Given the description of an element on the screen output the (x, y) to click on. 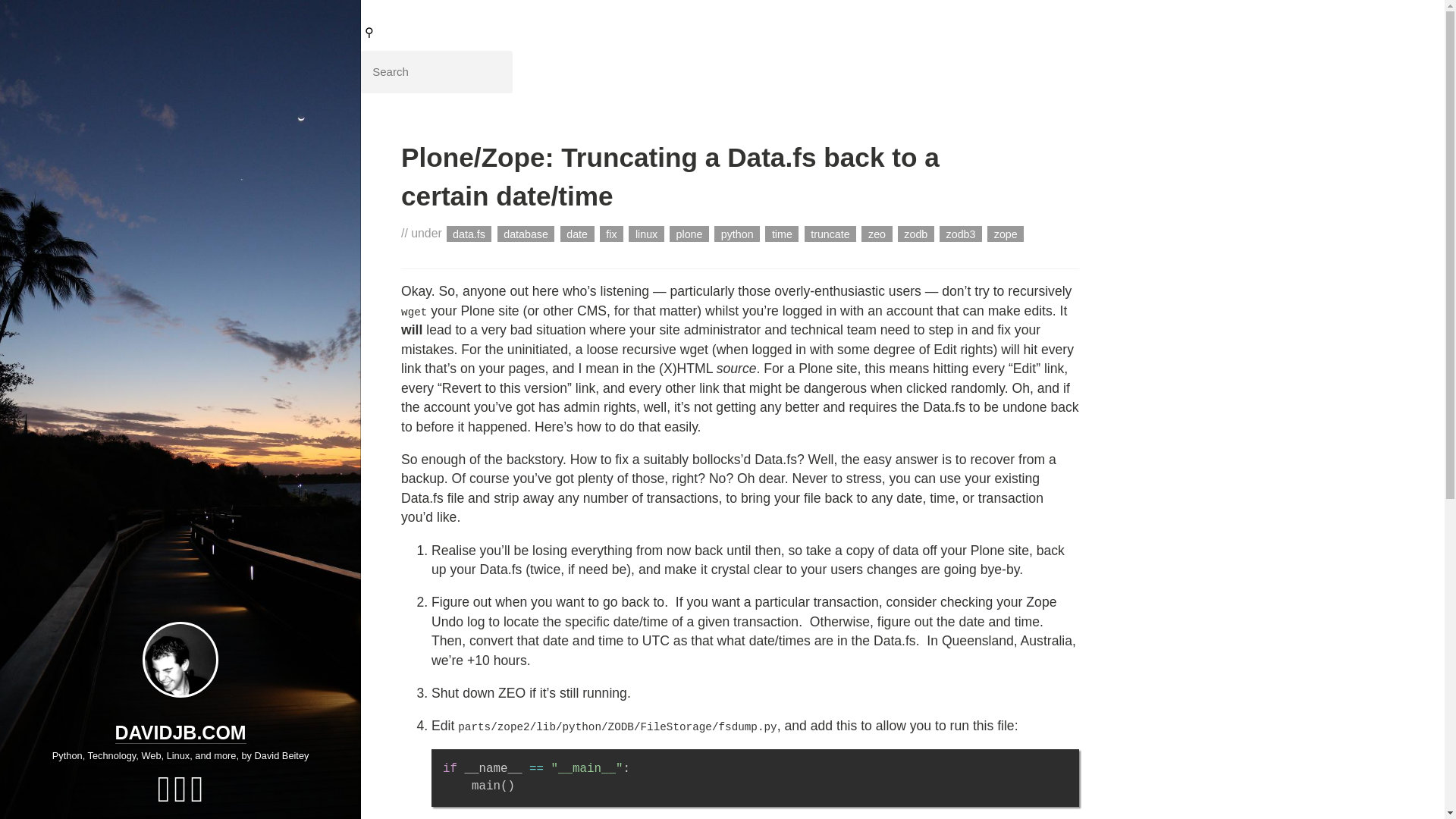
fix (611, 234)
plone (689, 234)
zeo (876, 234)
truncate (831, 234)
date (577, 234)
zodb3 (960, 234)
time (781, 234)
At least 3 characters (436, 71)
DAVIDJB.COM (180, 732)
data.fs (469, 234)
